Given the description of an element on the screen output the (x, y) to click on. 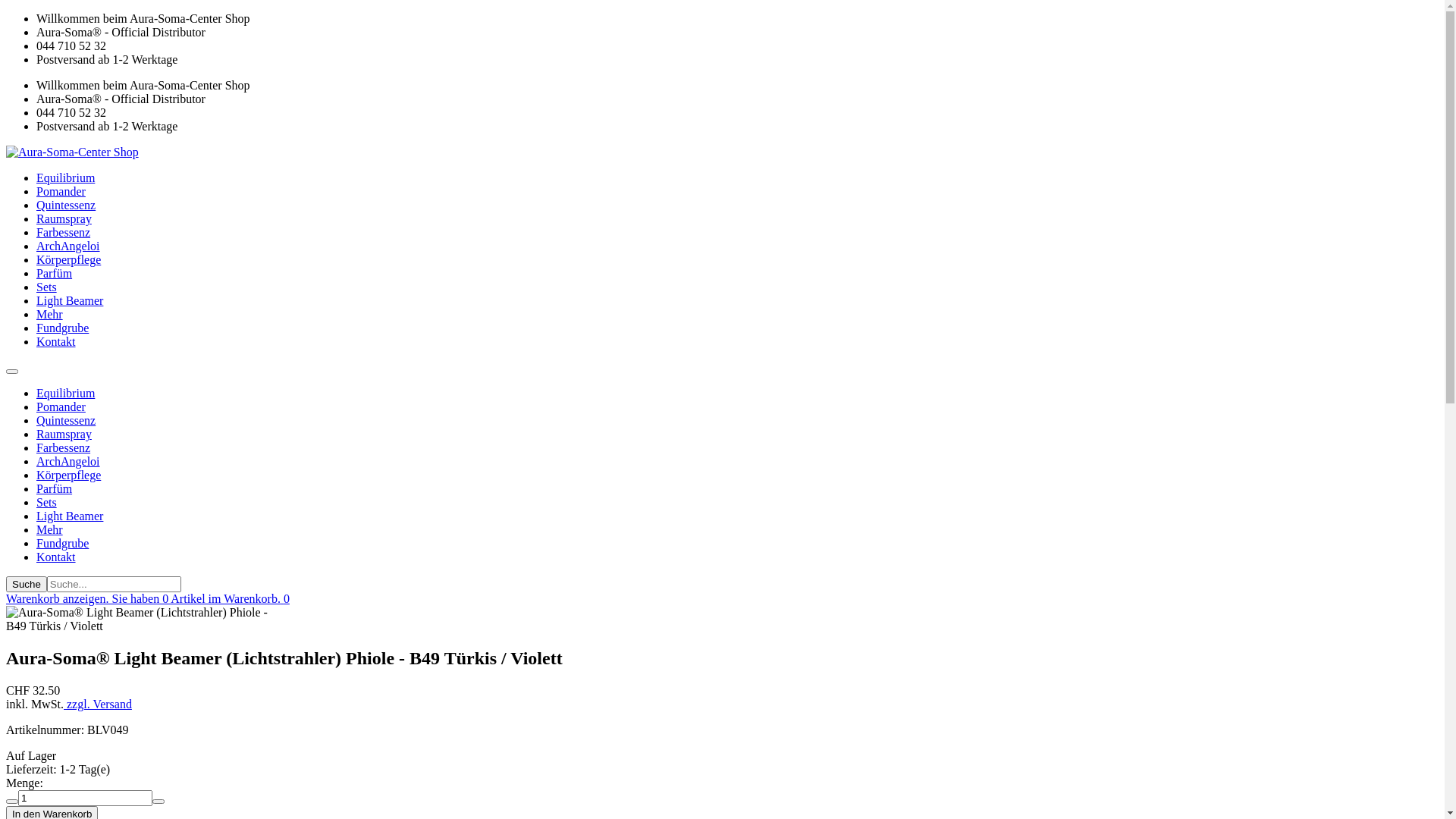
Fundgrube Element type: text (62, 542)
Quintessenz Element type: text (65, 204)
Light Beamer Element type: text (69, 515)
Pomander Element type: text (60, 191)
Kontakt Element type: text (55, 556)
Kontakt Element type: text (55, 341)
Mehr Element type: text (49, 529)
Suche Element type: text (26, 584)
zzgl. Versand Element type: text (97, 703)
Raumspray Element type: text (63, 433)
ArchAngeloi Element type: text (68, 245)
Equilibrium Element type: text (65, 392)
Light Beamer Element type: text (69, 300)
Warenkorb anzeigen. Sie haben 0 Artikel im Warenkorb. 0 Element type: text (147, 598)
Aura-Soma-Center Shop Element type: hover (72, 151)
ArchAngeloi Element type: text (68, 461)
Pomander Element type: text (60, 406)
Sets Element type: text (46, 286)
Mehr Element type: text (49, 313)
Fundgrube Element type: text (62, 327)
Farbessenz Element type: text (63, 231)
Quintessenz Element type: text (65, 420)
Equilibrium Element type: text (65, 177)
Sets Element type: text (46, 501)
Farbessenz Element type: text (63, 447)
Raumspray Element type: text (63, 218)
